Given the description of an element on the screen output the (x, y) to click on. 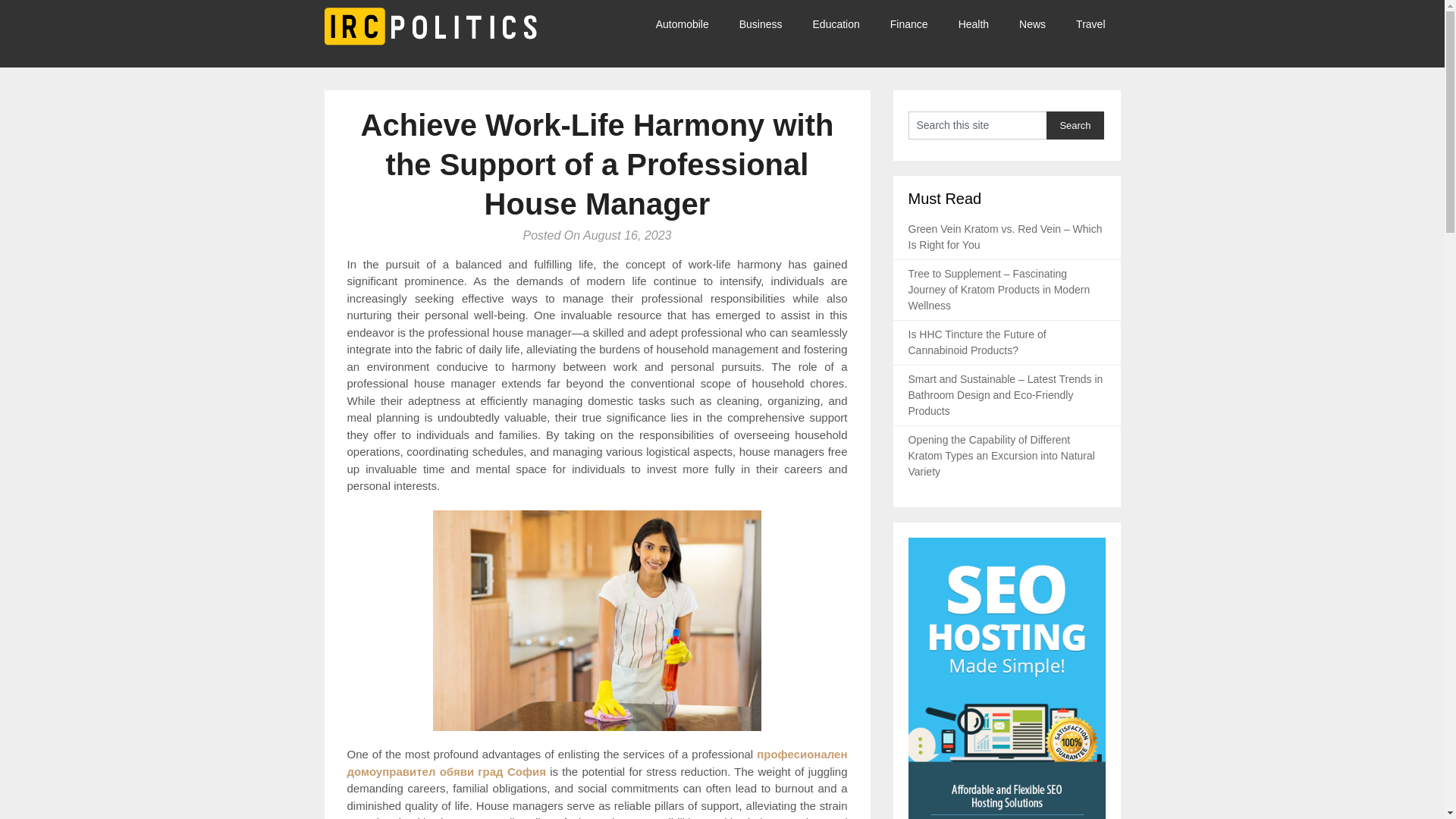
Search (1075, 125)
Search (1075, 125)
News (1032, 24)
Education (836, 24)
Health (973, 24)
Automobile (689, 24)
Is HHC Tincture the Future of Cannabinoid Products? (977, 342)
Search this site (977, 125)
Finance (909, 24)
